Given the description of an element on the screen output the (x, y) to click on. 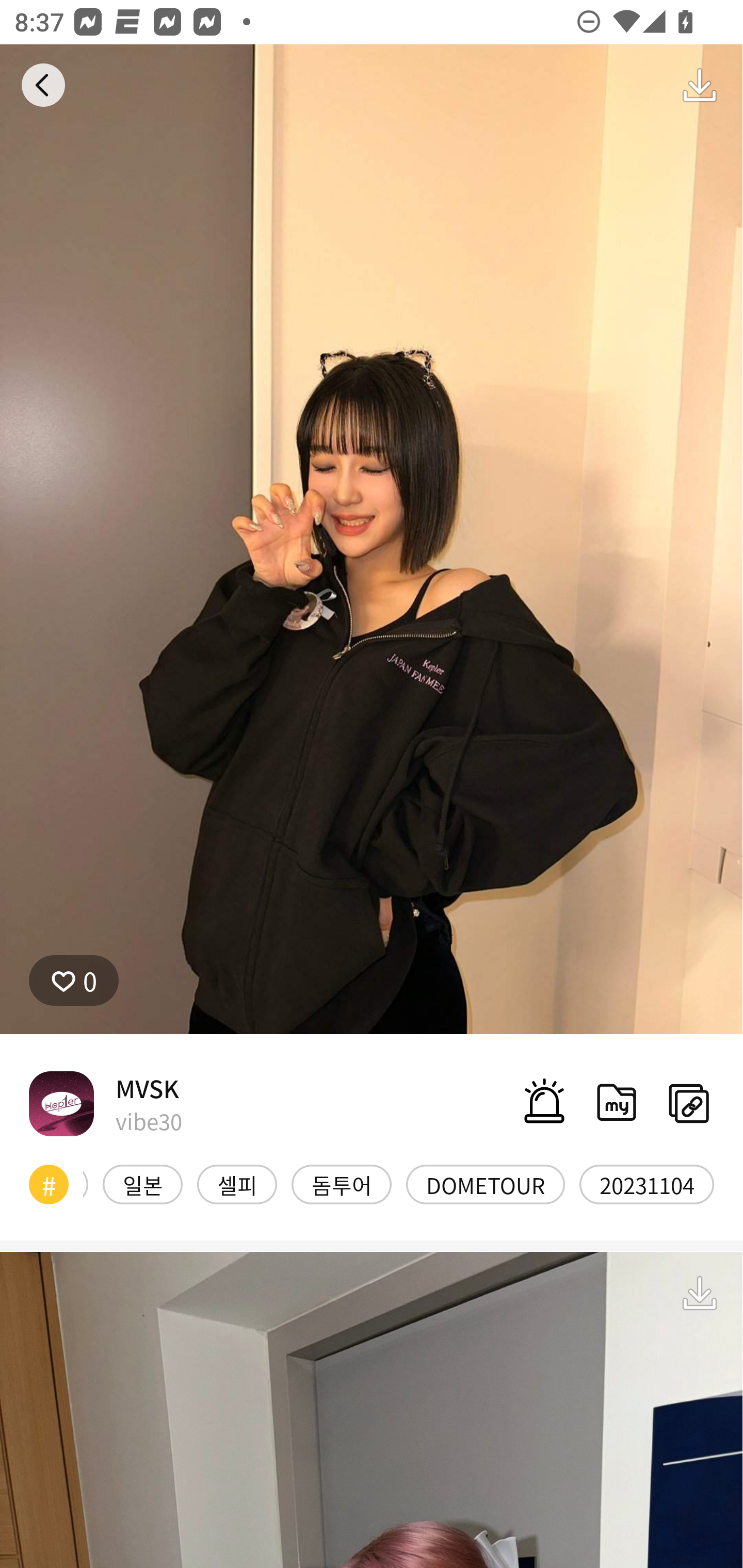
0 (73, 980)
MVSK vibe30 (105, 1102)
일본 (142, 1184)
셀피 (236, 1184)
돔투어 (341, 1184)
DOMETOUR (485, 1184)
20231104 (646, 1184)
